Given the description of an element on the screen output the (x, y) to click on. 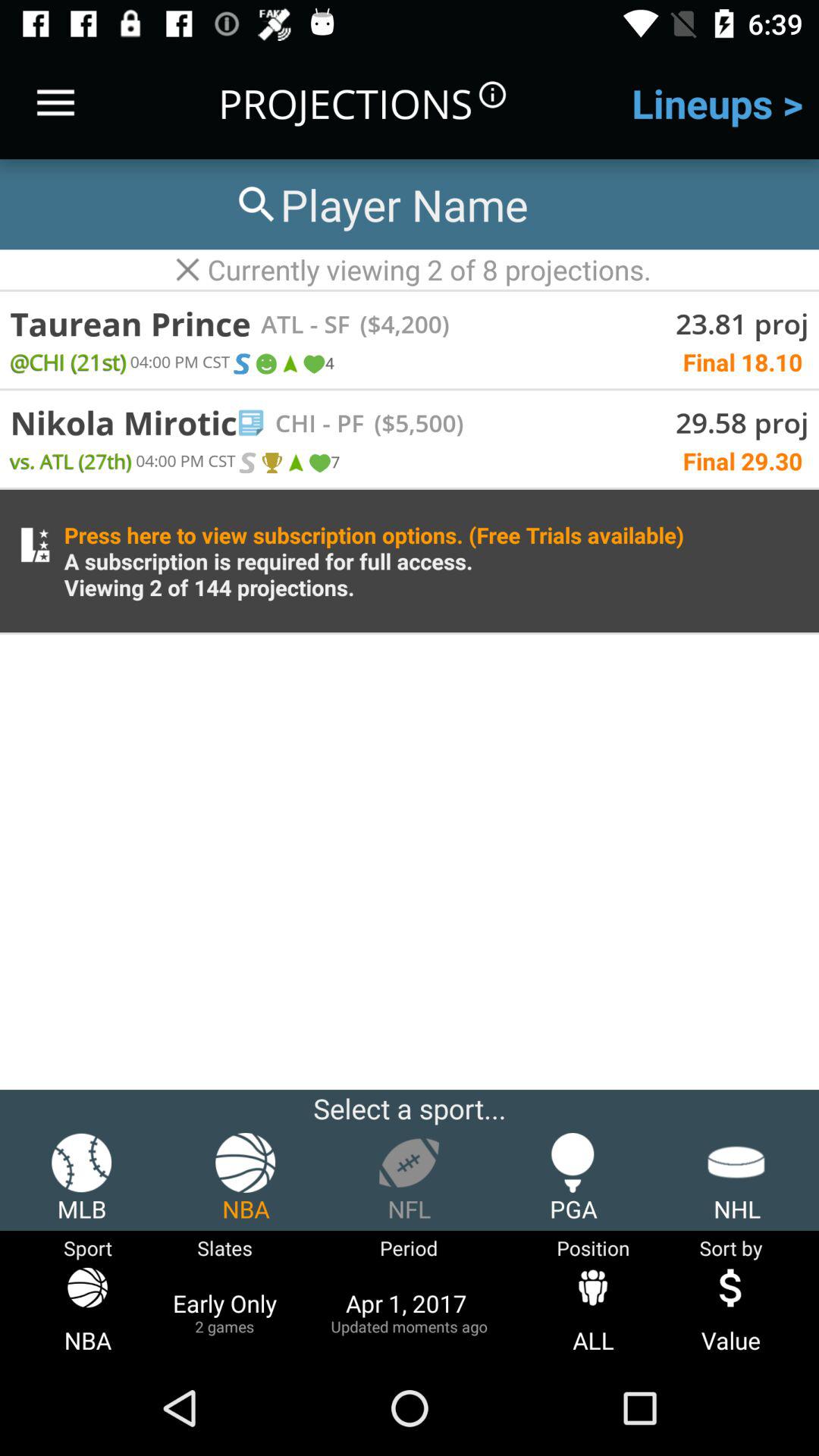
click icon to the left of press here to (35, 544)
